Given the description of an element on the screen output the (x, y) to click on. 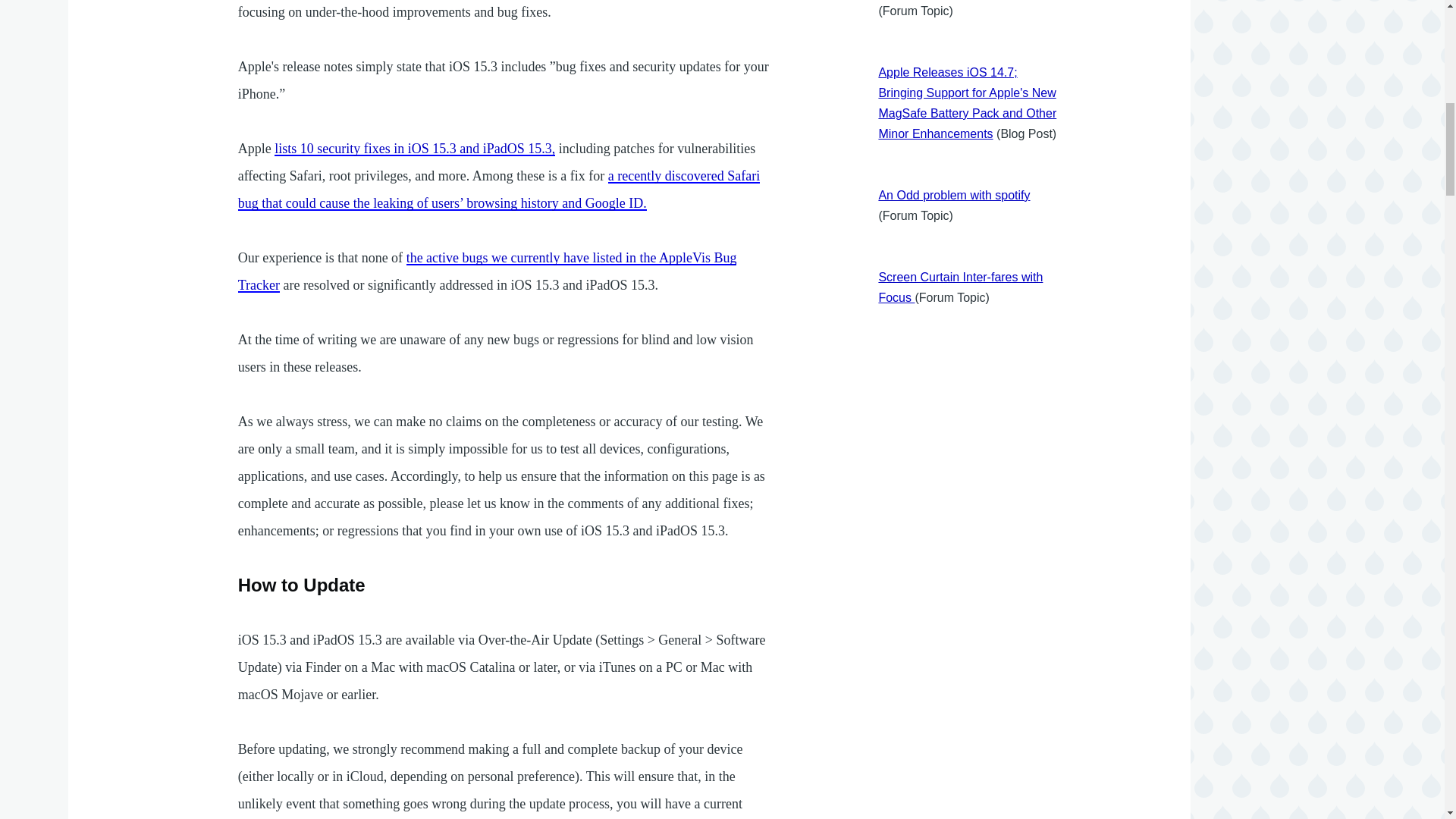
lists 10 security fixes in iOS 15.3 and iPadOS 15.3, (414, 148)
